Given the description of an element on the screen output the (x, y) to click on. 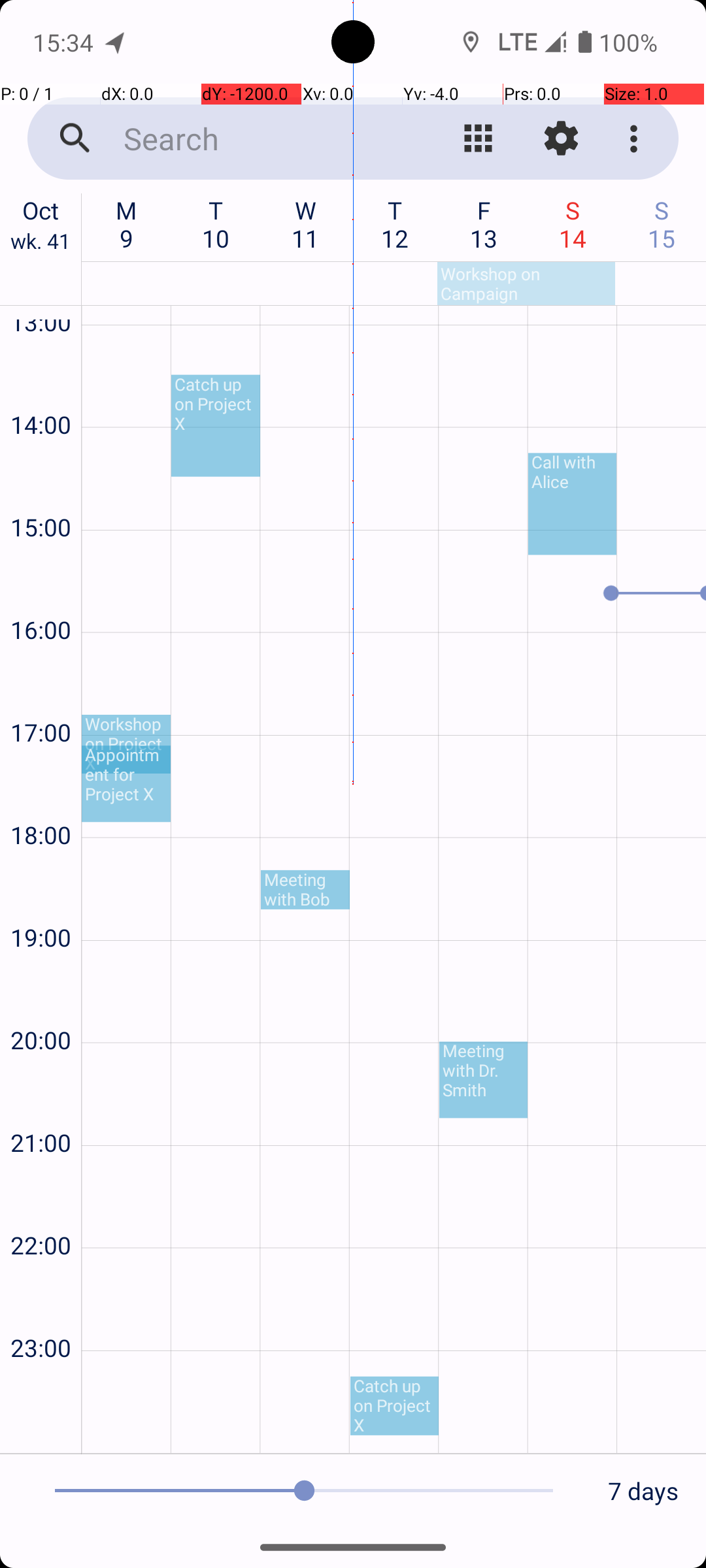
21:00 Element type: android.widget.TextView (40, 1107)
22:00 Element type: android.widget.TextView (40, 1210)
23:00 Element type: android.widget.TextView (40, 1312)
